Given the description of an element on the screen output the (x, y) to click on. 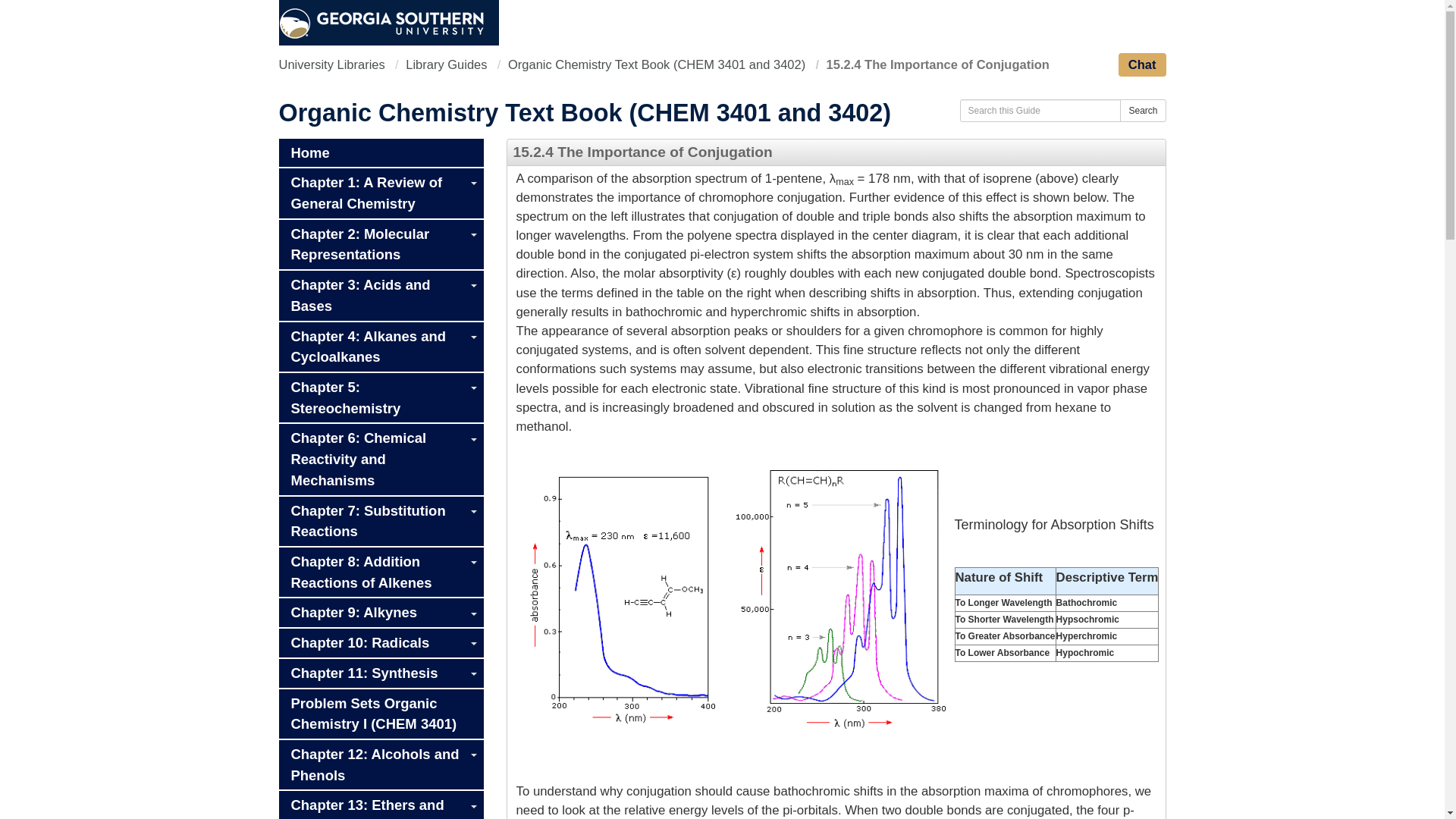
University Libraries (332, 64)
Chapter 3: Acids and Bases (381, 295)
Chapter 1: A Review of General Chemistry (381, 192)
Chat (1142, 64)
Library Guides (446, 64)
Chapter 4: Alkanes and Cycloalkanes (381, 346)
Home (381, 152)
Search (1142, 109)
Chapter 2: Molecular Representations (381, 244)
